Given the description of an element on the screen output the (x, y) to click on. 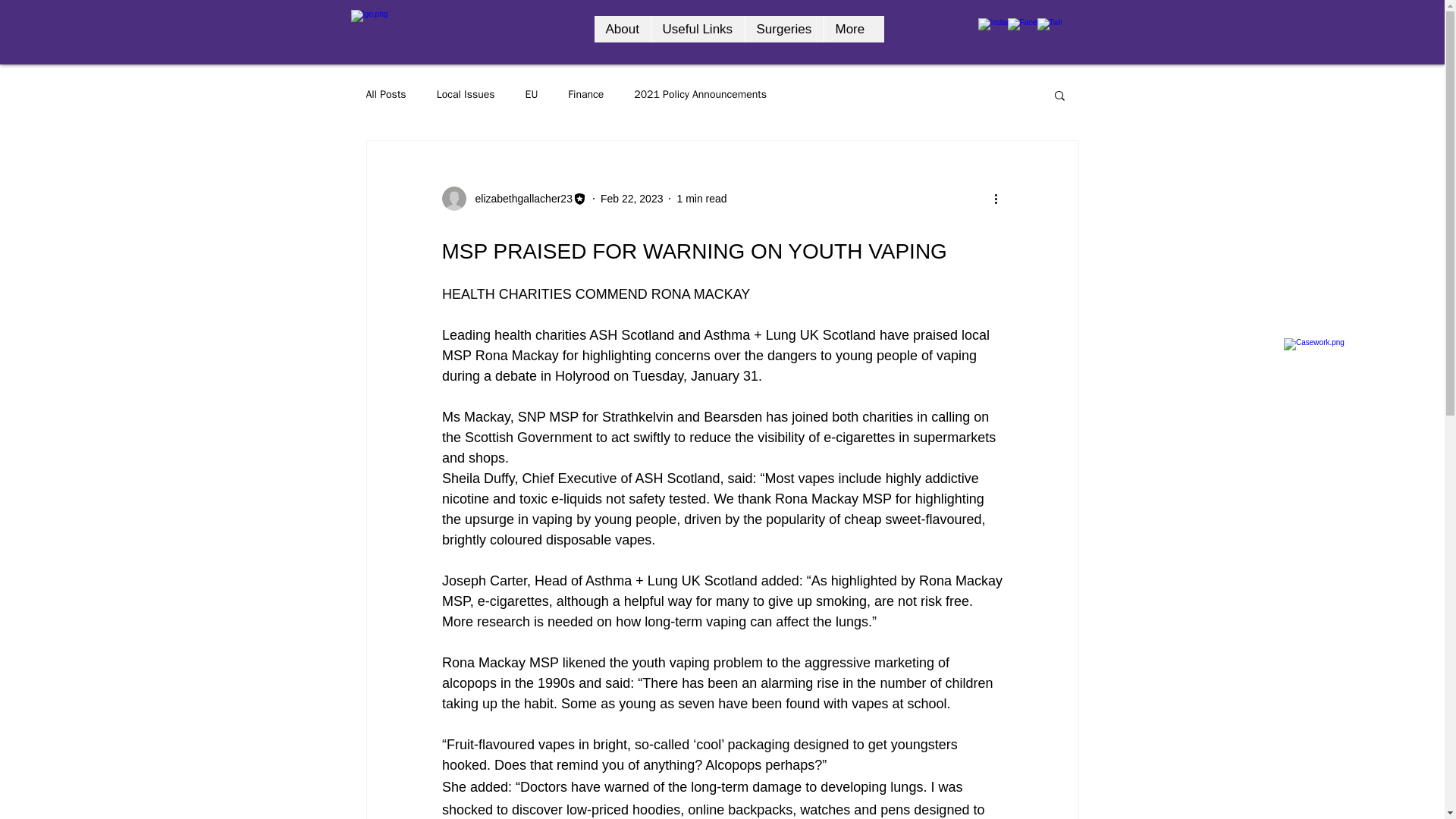
Surgeries (784, 28)
Useful Links (697, 28)
Feb 22, 2023 (631, 198)
EU (531, 94)
All Posts (385, 94)
Local Issues (465, 94)
About (622, 28)
elizabethgallacher23 (513, 198)
1 min read (701, 198)
elizabethgallacher23 (518, 198)
Finance (585, 94)
2021 Policy Announcements (700, 94)
